Given the description of an element on the screen output the (x, y) to click on. 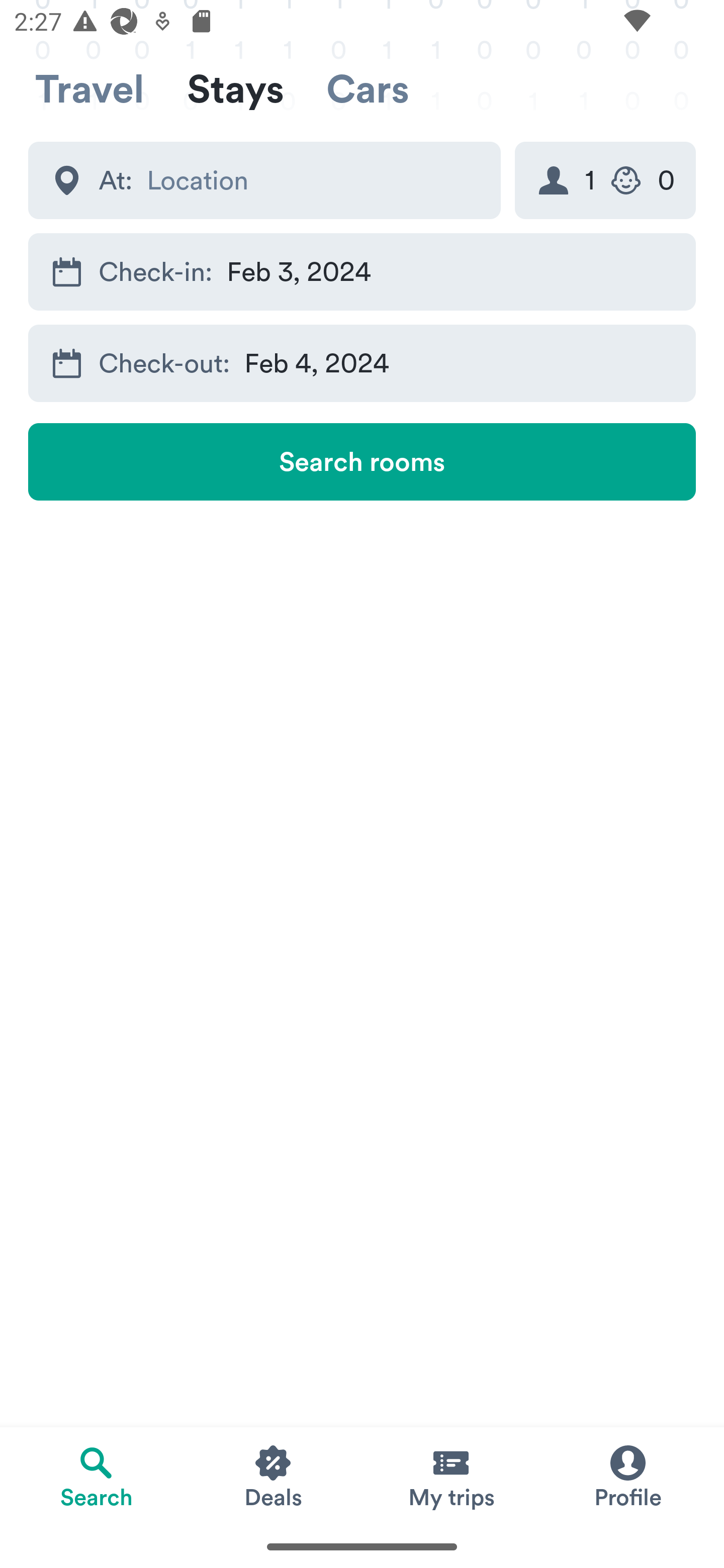
Travel (89, 89)
Stays (235, 89)
Cars (367, 89)
At: (264, 179)
1 0 (604, 179)
Check-in: Feb 3, 2024 (361, 270)
Check-out: Feb 4, 2024 (361, 363)
Search rooms (361, 461)
Deals (273, 1475)
My trips (450, 1475)
Profile (627, 1475)
